Given the description of an element on the screen output the (x, y) to click on. 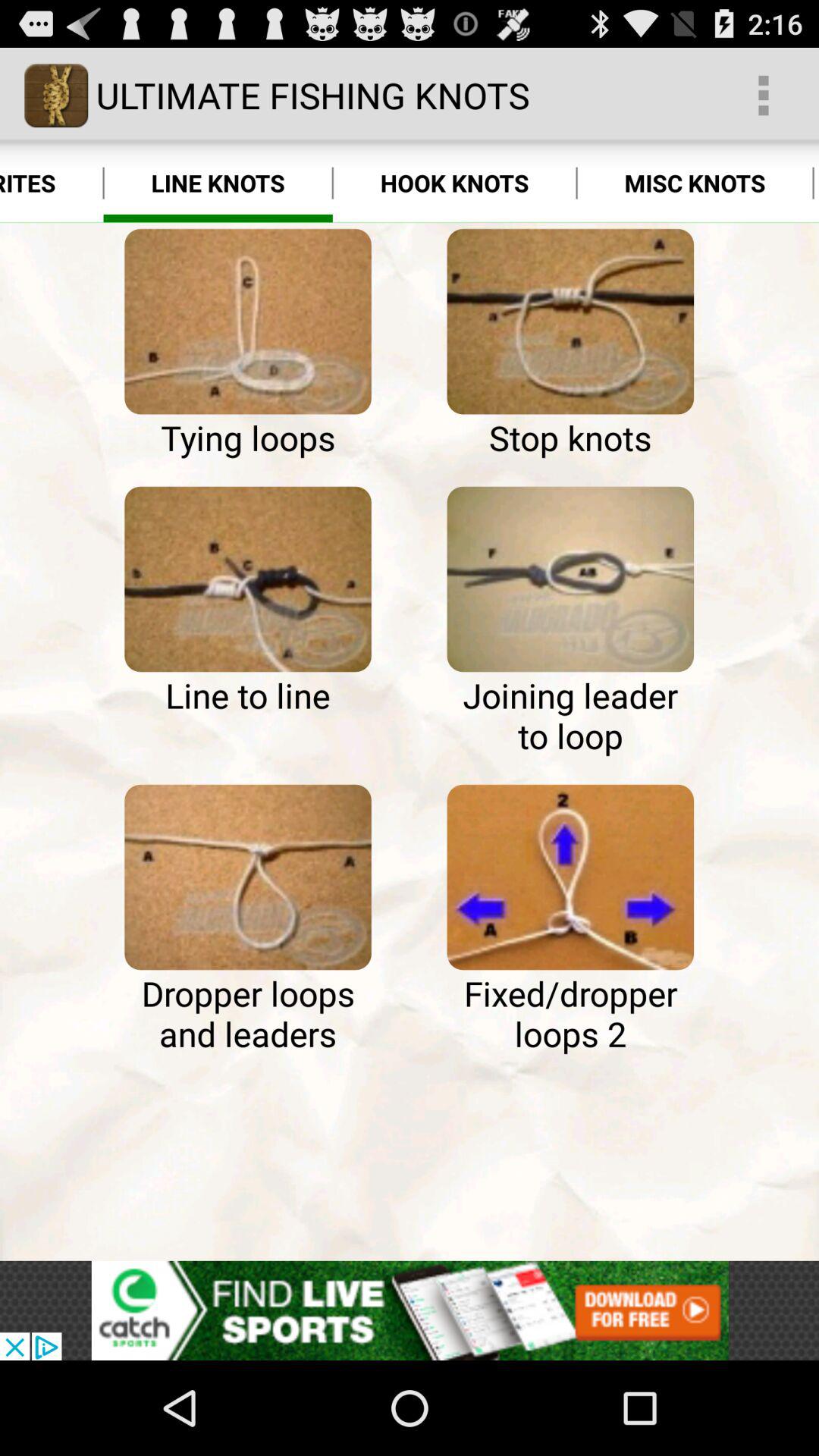
select line knot type dropper loops and leaders (247, 876)
